Given the description of an element on the screen output the (x, y) to click on. 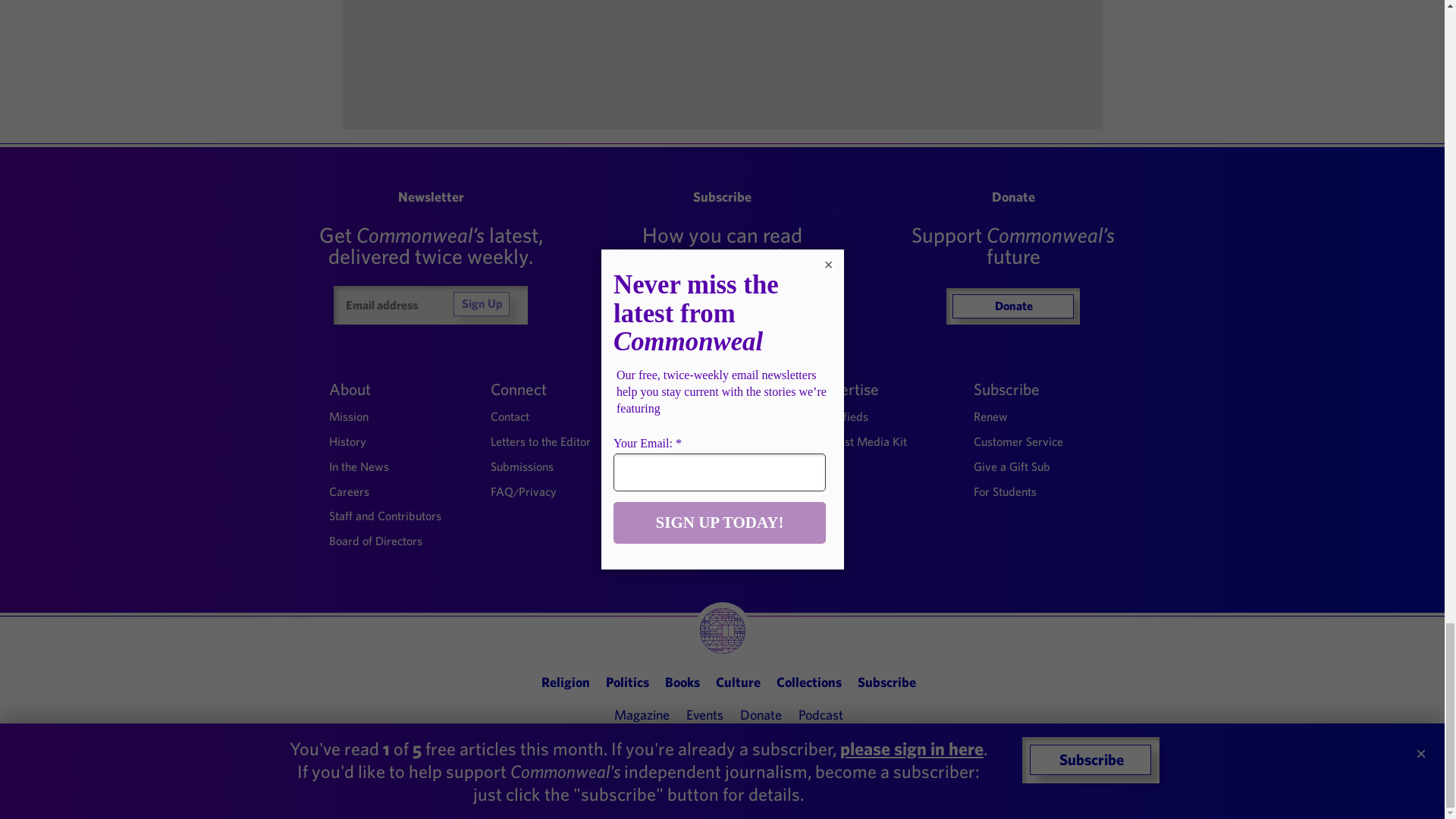
Sign Up (480, 303)
3rd party ad content (722, 58)
